Given the description of an element on the screen output the (x, y) to click on. 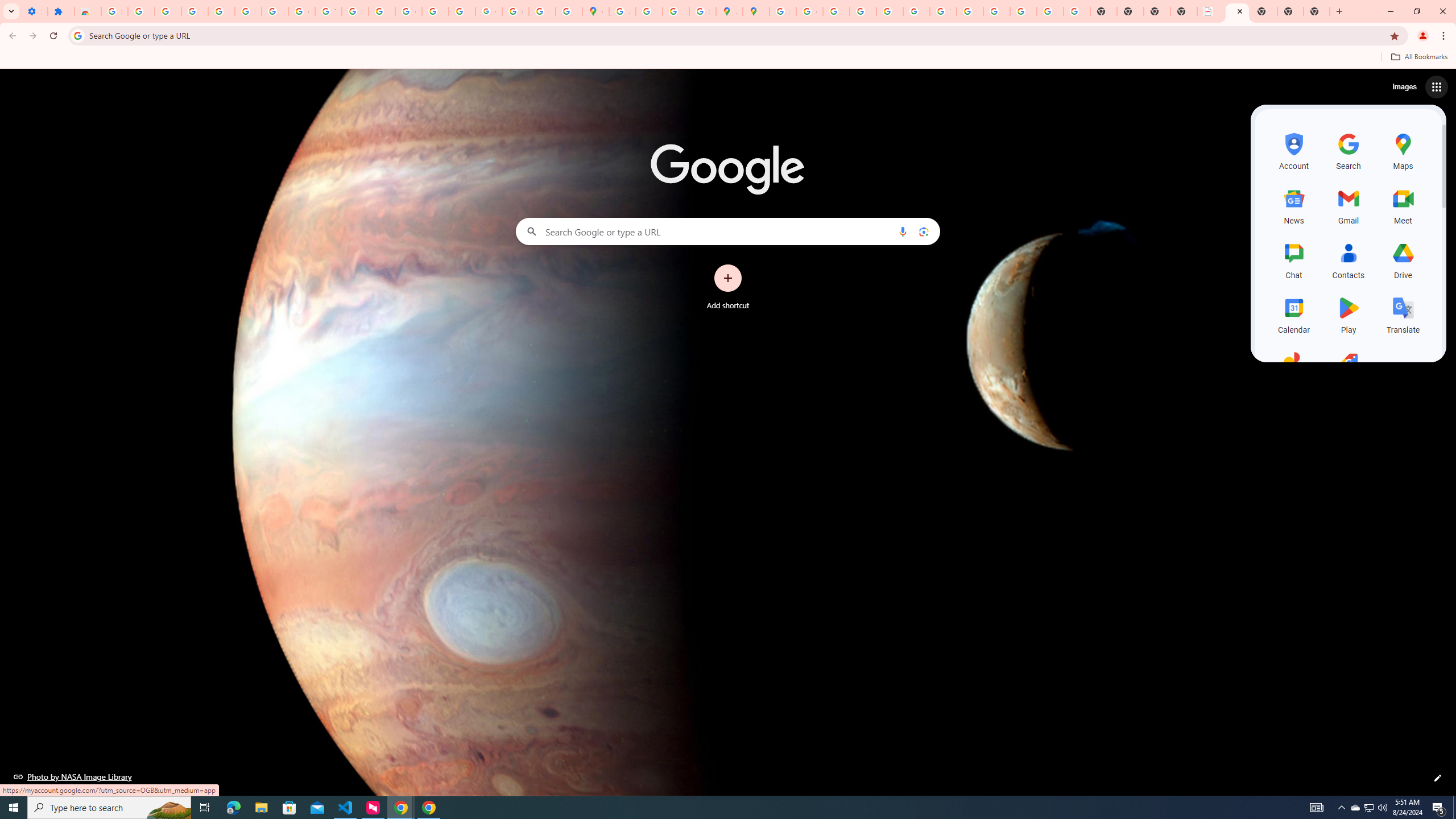
Privacy Help Center - Policies Help (862, 11)
Gmail, row 2 of 5 and column 2 of 3 in the first section (1348, 204)
News, row 2 of 5 and column 1 of 3 in the first section (1293, 204)
